Given the description of an element on the screen output the (x, y) to click on. 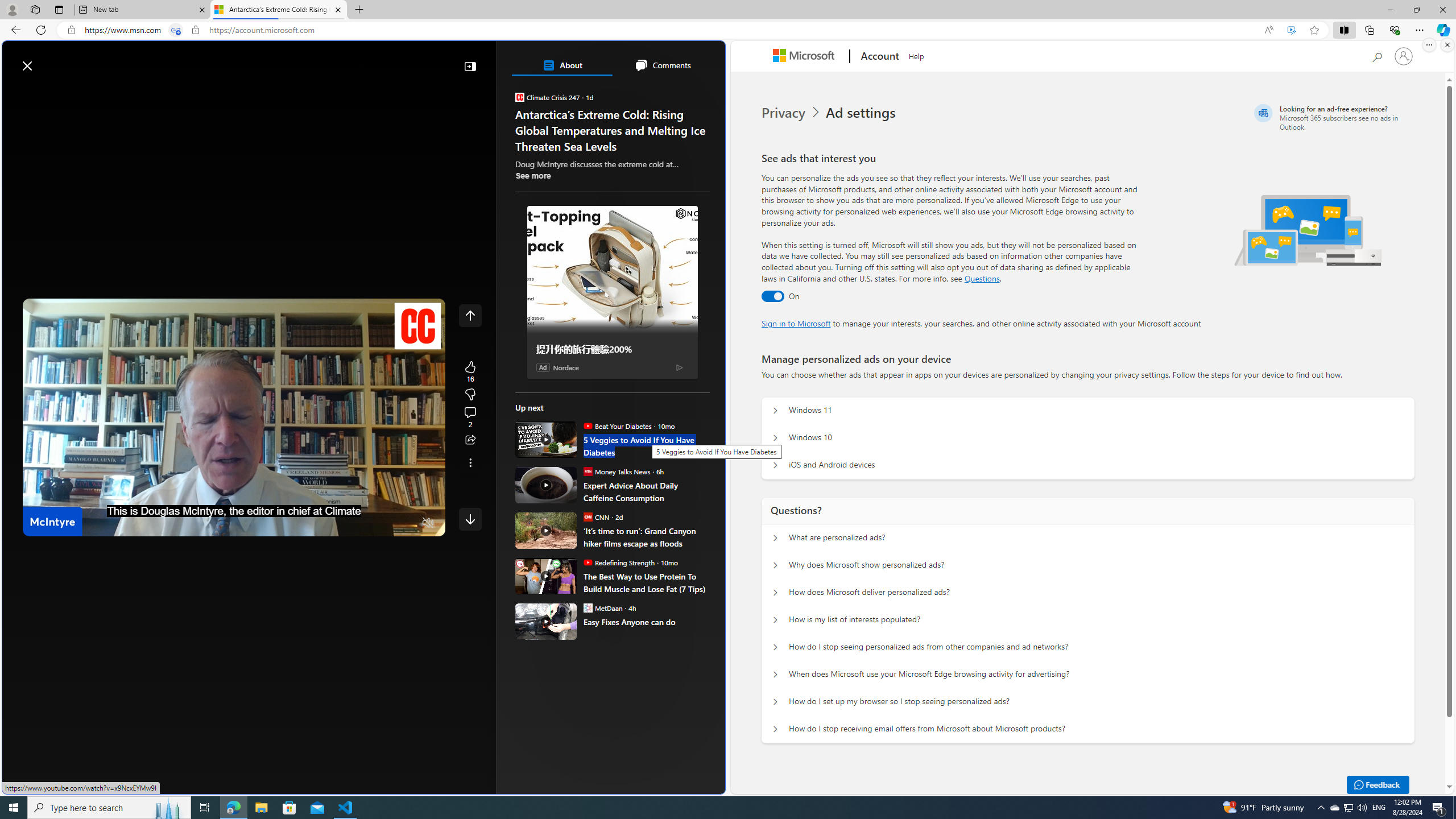
Questions? How does Microsoft deliver personalized ads? (775, 592)
Sign in to your account (1404, 55)
Progress Bar (234, 508)
Help (915, 54)
Easy Fixes Anyone can do (545, 620)
5 Veggies to Avoid If You Have Diabetes (646, 445)
Account (878, 56)
Fullscreen (405, 523)
Privacy (784, 112)
